Given the description of an element on the screen output the (x, y) to click on. 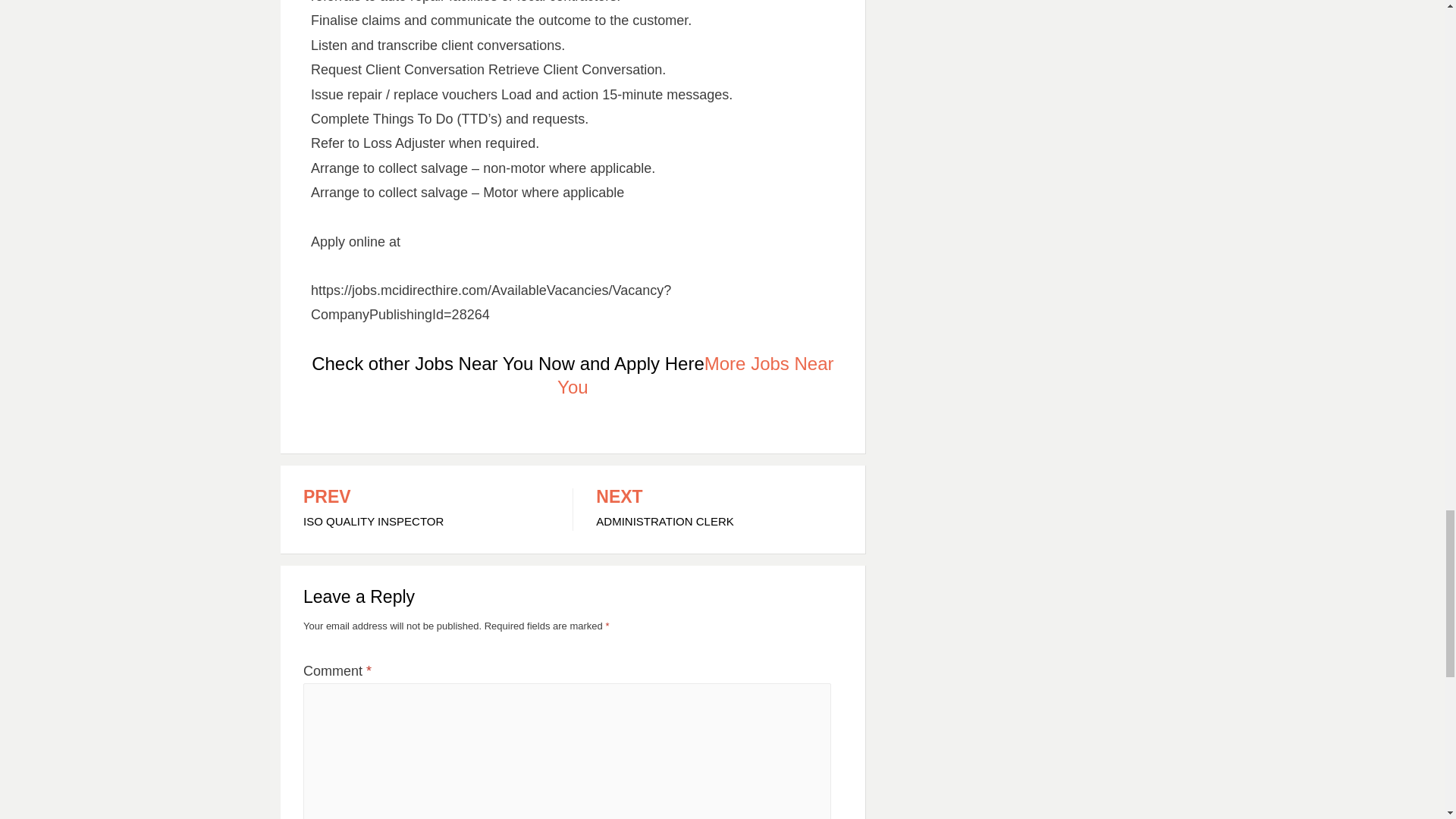
More Jobs Near You (426, 509)
